Given the description of an element on the screen output the (x, y) to click on. 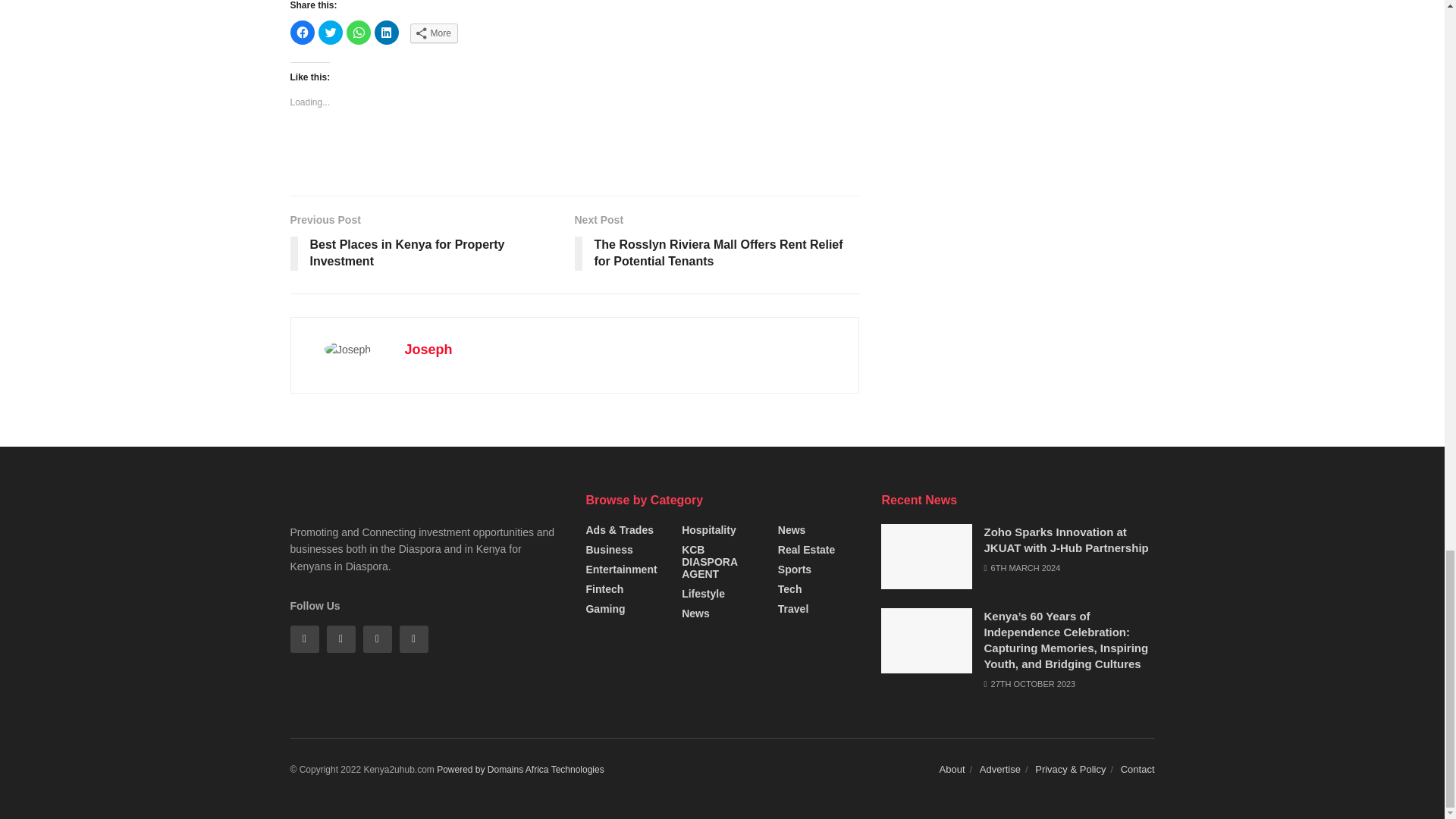
Click to share on LinkedIn (386, 32)
Click to share on WhatsApp (357, 32)
Click to share on Twitter (330, 32)
KCB DIASPORA AGENT (721, 561)
Click to share on Facebook (301, 32)
